Given the description of an element on the screen output the (x, y) to click on. 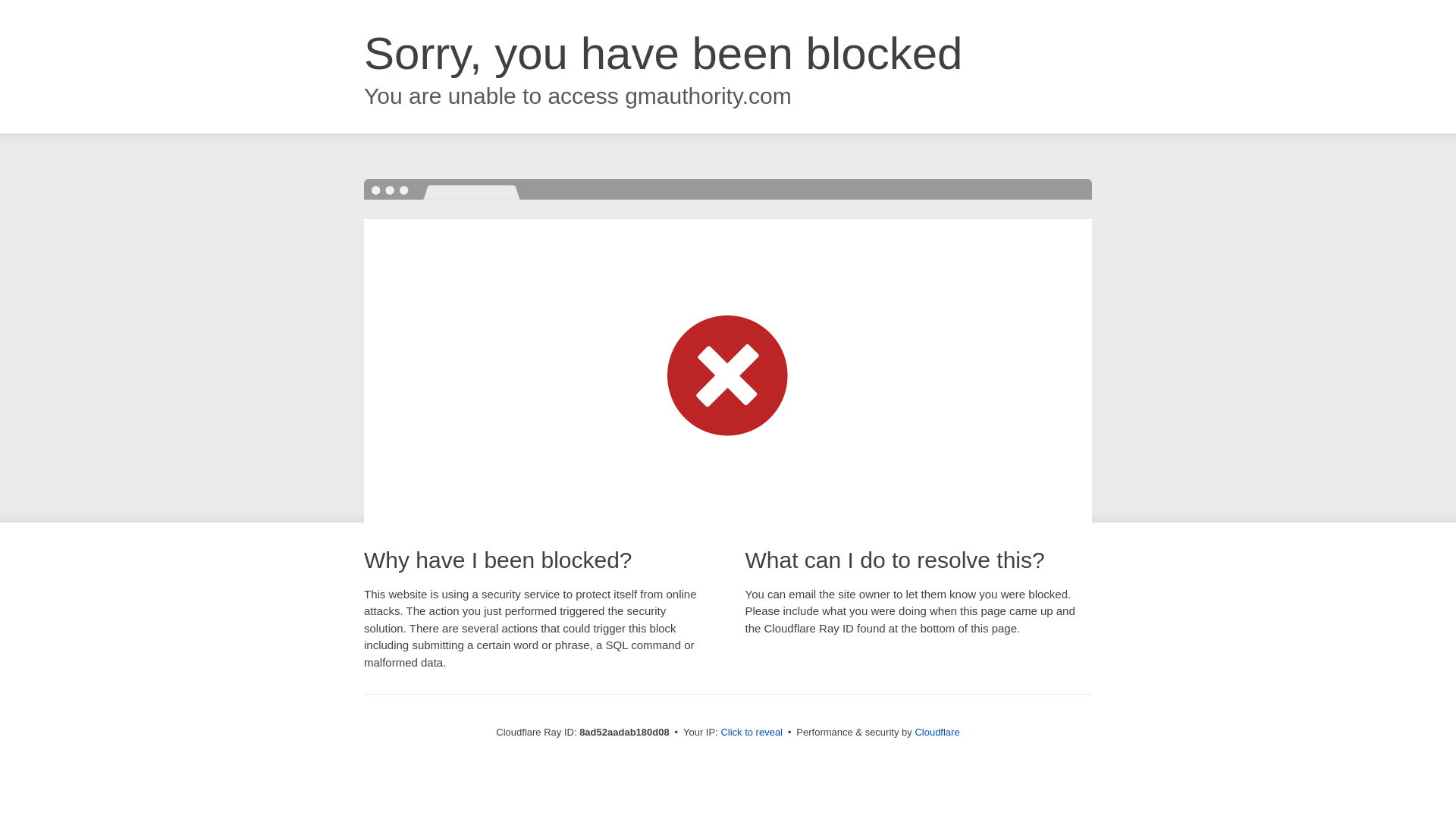
Cloudflare (936, 731)
Click to reveal (751, 732)
